Given the description of an element on the screen output the (x, y) to click on. 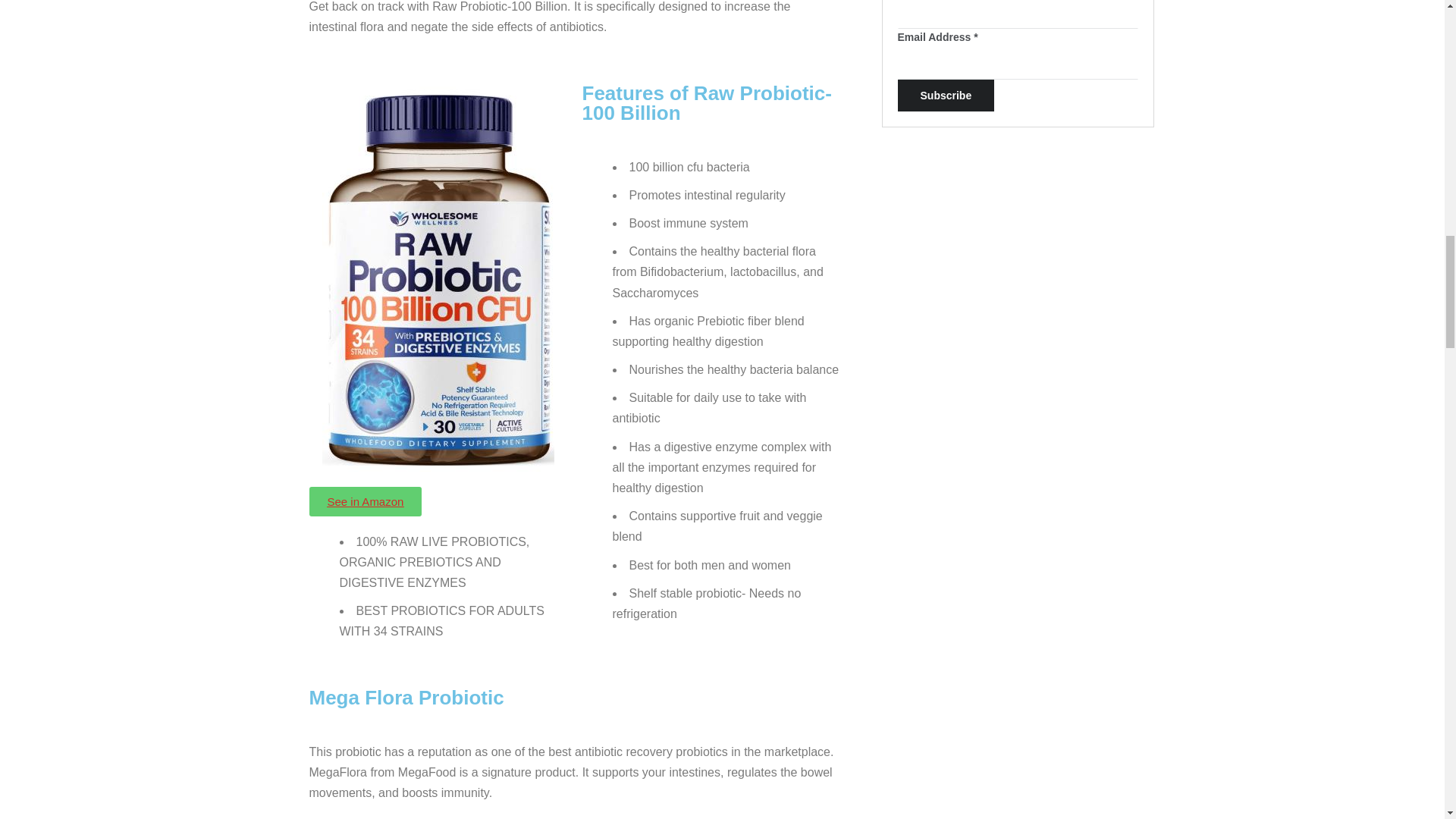
Subscribe (946, 95)
See in Amazon (365, 501)
